Given the description of an element on the screen output the (x, y) to click on. 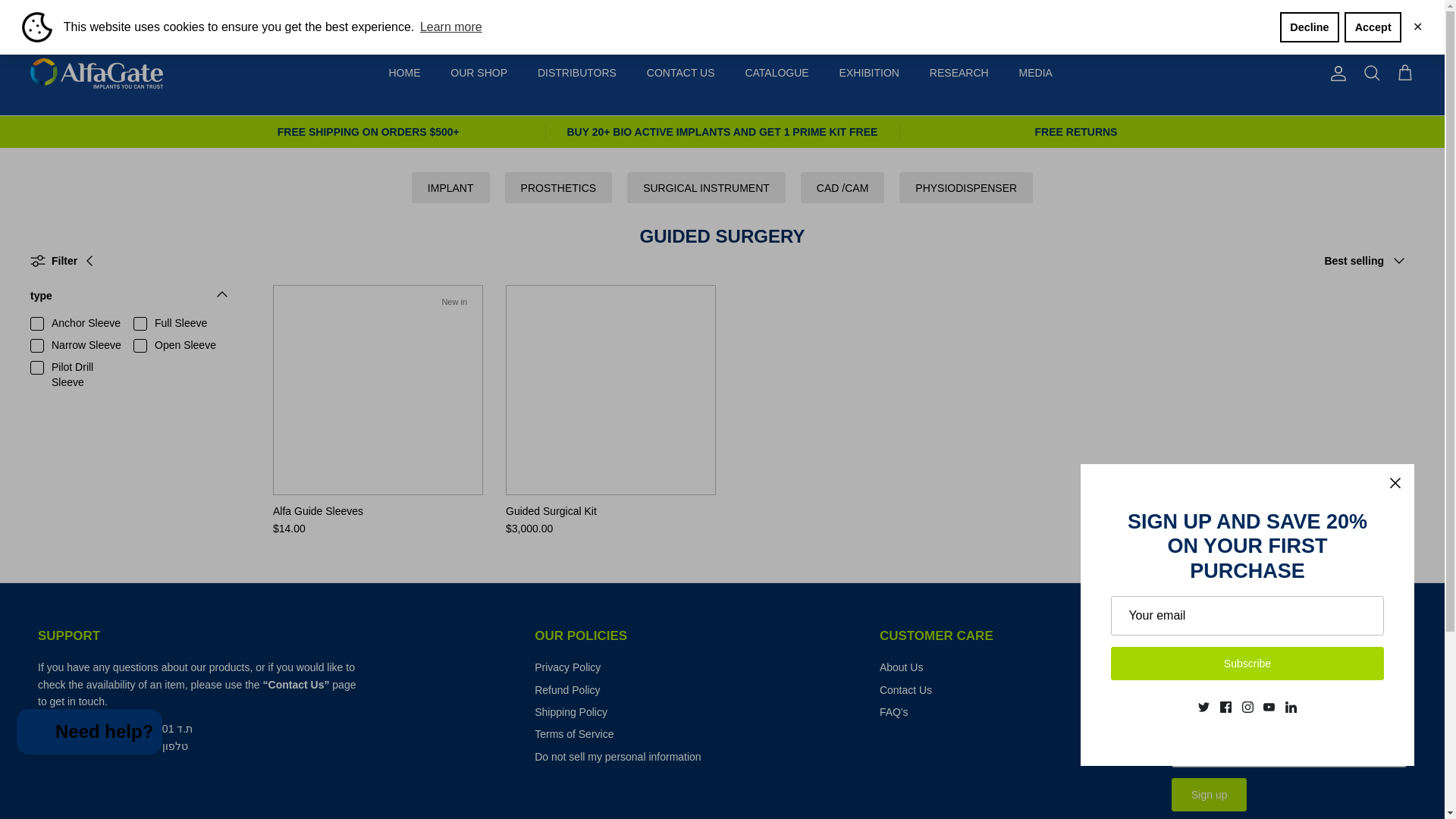
Accept (1371, 27)
Contact Us (296, 684)
Twitter (36, 15)
Youtube (99, 15)
Facebook (56, 15)
Instagram (78, 15)
